Given the description of an element on the screen output the (x, y) to click on. 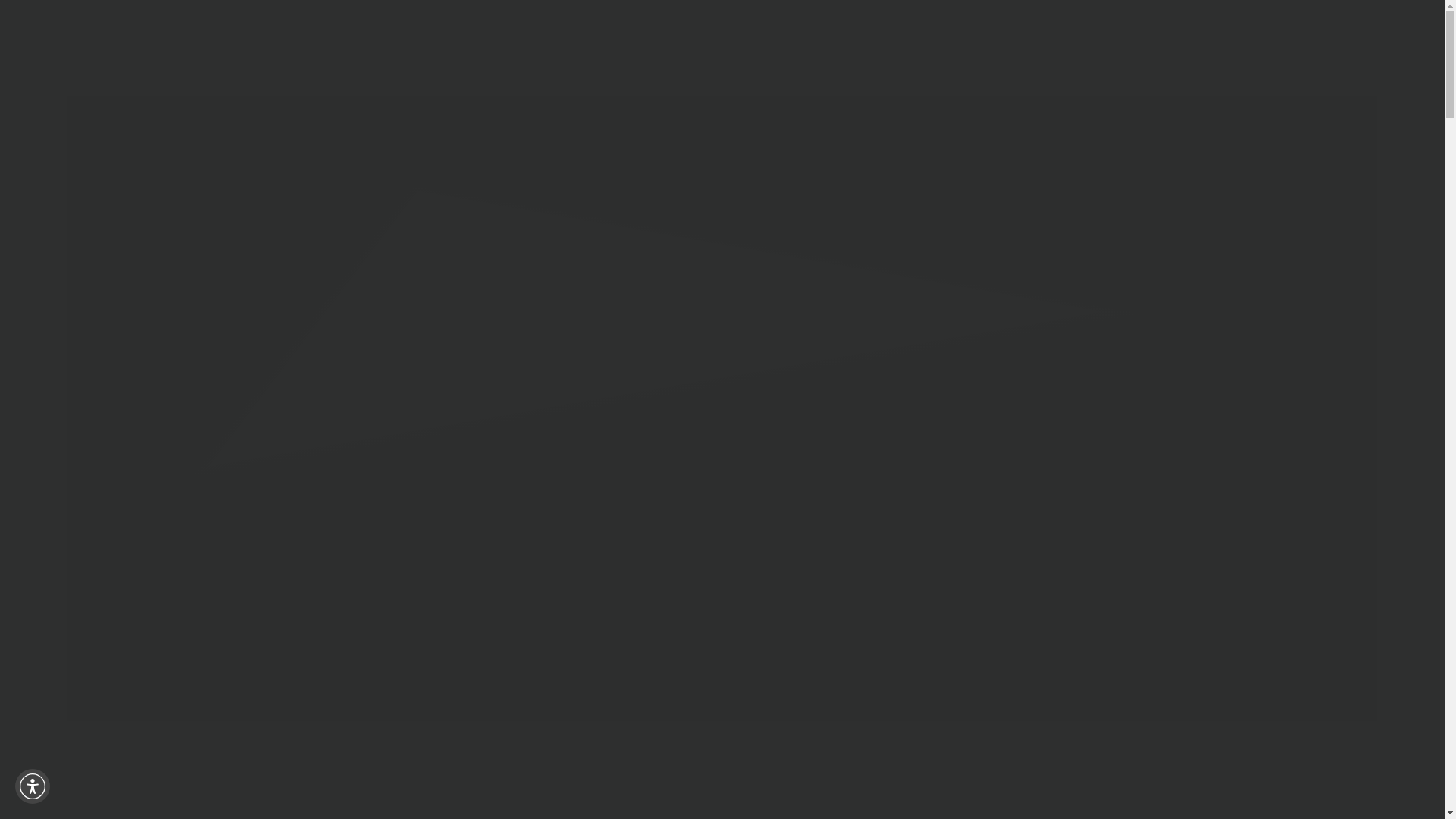
Schedule Appointment (1241, 44)
